Given the description of an element on the screen output the (x, y) to click on. 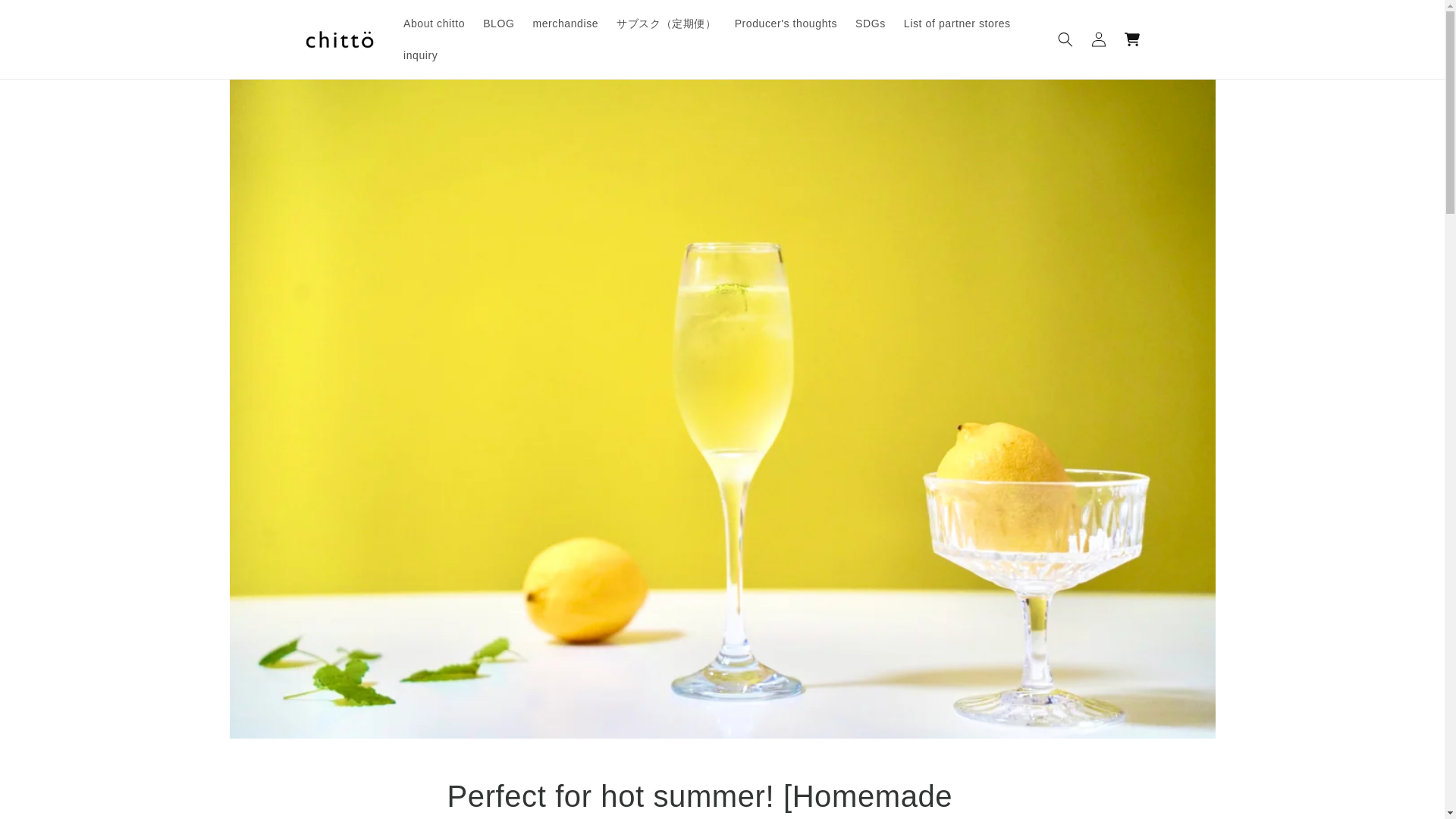
BLOG (498, 23)
merchandise (564, 23)
List of partner stores (957, 23)
inquiry (420, 55)
Cart (1131, 39)
Skip to content (45, 17)
About chitto (434, 23)
Producer's thoughts (785, 23)
Log in (1098, 39)
SDGs (870, 23)
